Given the description of an element on the screen output the (x, y) to click on. 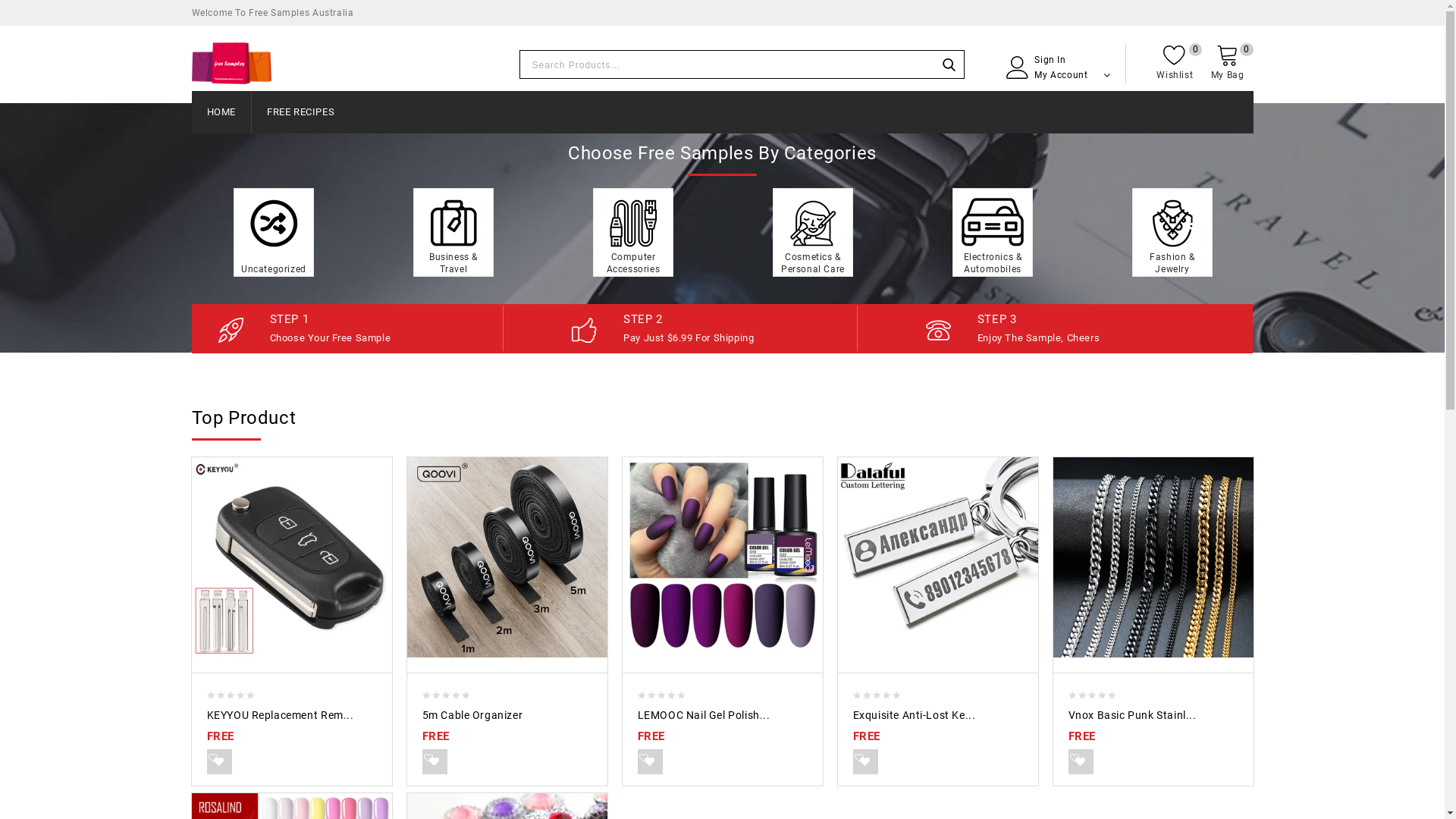
Cosmetics & Personal Care Element type: text (812, 263)
Computer Accessories Element type: hover (633, 232)
Business & Travel Element type: hover (453, 232)
Not yet rated Element type: hover (876, 693)
Free Samples Element type: hover (230, 55)
FREE RECIPES Element type: text (300, 112)
Cosmetics & Personal Care Element type: hover (812, 231)
STEP 3
Enjoy The Sample, Cheers Element type: text (1094, 326)
KEYYOU Replacement Rem... Element type: text (291, 729)
Exquisite Anti-Lost Ke... Element type: text (937, 729)
Wishlist
0 Element type: text (1174, 63)
My Bag
0 Element type: text (1227, 52)
Fashion & Jewelry Element type: text (1172, 263)
HOME Element type: text (221, 112)
Fashion & Jewelry Element type: hover (1172, 231)
Add to wishlist Element type: text (433, 761)
Cosmetics & Personal Care Element type: hover (812, 232)
Electronics & Automobiles Element type: hover (992, 232)
STEP 2
Pay Just $6.99 For Shipping Element type: text (740, 326)
STEP 1
Choose Your Free Sample Element type: text (386, 326)
Electronics & Automobiles Element type: text (992, 263)
Add to wishlist Element type: text (864, 761)
Computer Accessories Element type: hover (633, 231)
Add to wishlist Element type: text (1079, 761)
Vnox Basic Punk Stainl... Element type: text (1152, 729)
Add to wishlist Element type: text (218, 761)
Business & Travel Element type: hover (453, 231)
LEMOOC Nail Gel Polish... Element type: text (721, 729)
Not yet rated Element type: hover (661, 693)
Uncategorized Element type: hover (273, 231)
Computer Accessories Element type: text (633, 263)
Fashion & Jewelry Element type: hover (1172, 232)
SEARCH Element type: text (948, 64)
Uncategorized Element type: hover (273, 232)
Uncategorized Element type: text (273, 269)
Electronics & Automobiles Element type: hover (992, 231)
Not yet rated Element type: hover (230, 693)
Business & Travel Element type: text (453, 263)
Add to wishlist Element type: text (649, 761)
Not yet rated Element type: hover (1091, 693)
5m Cable Organizer Element type: text (506, 729)
Not yet rated Element type: hover (445, 693)
